Given the description of an element on the screen output the (x, y) to click on. 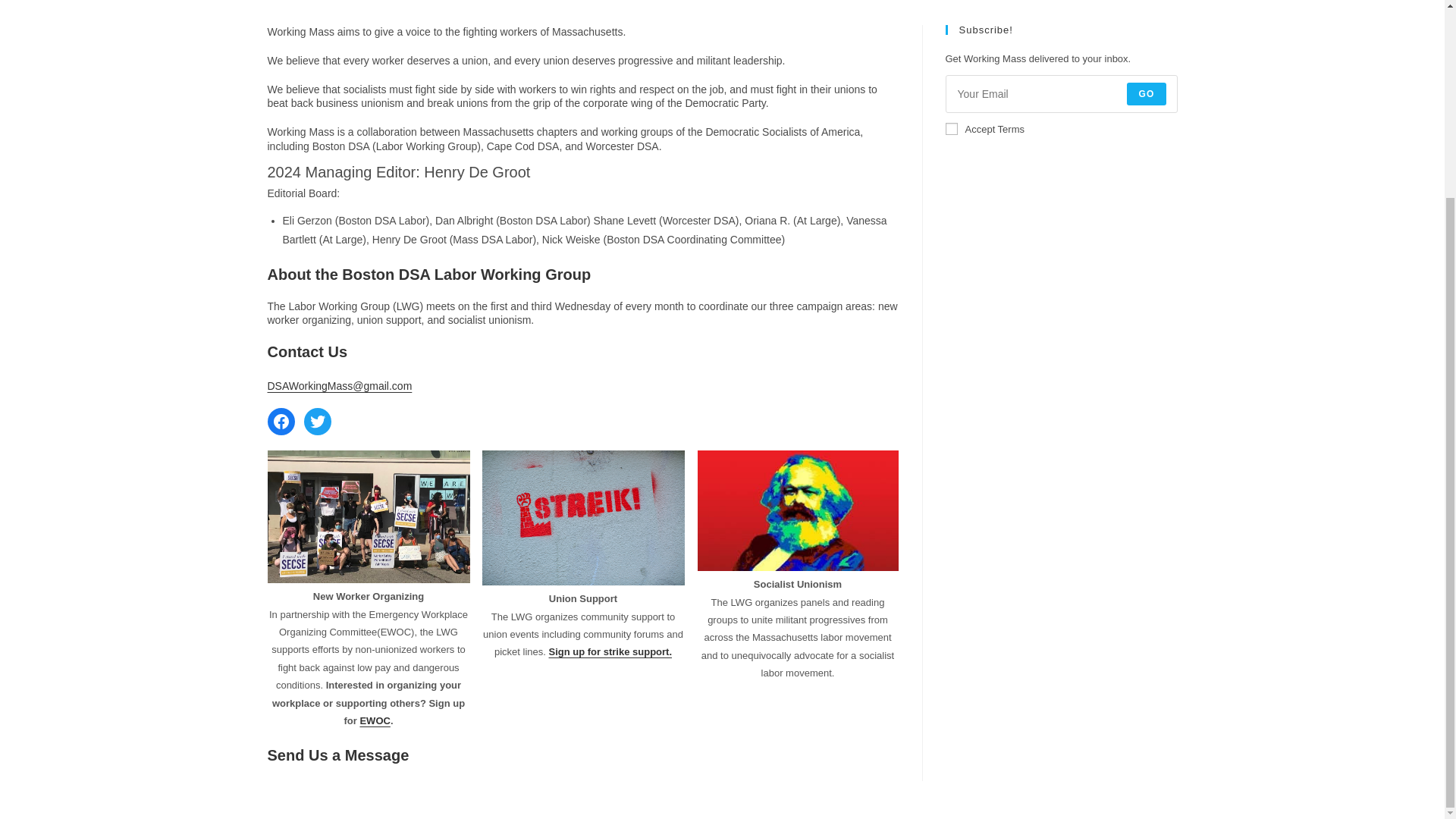
GO (1146, 93)
Facebook (280, 420)
1 (950, 128)
Twitter (316, 420)
EWOC (374, 720)
Sign up for strike support. (610, 651)
